Given the description of an element on the screen output the (x, y) to click on. 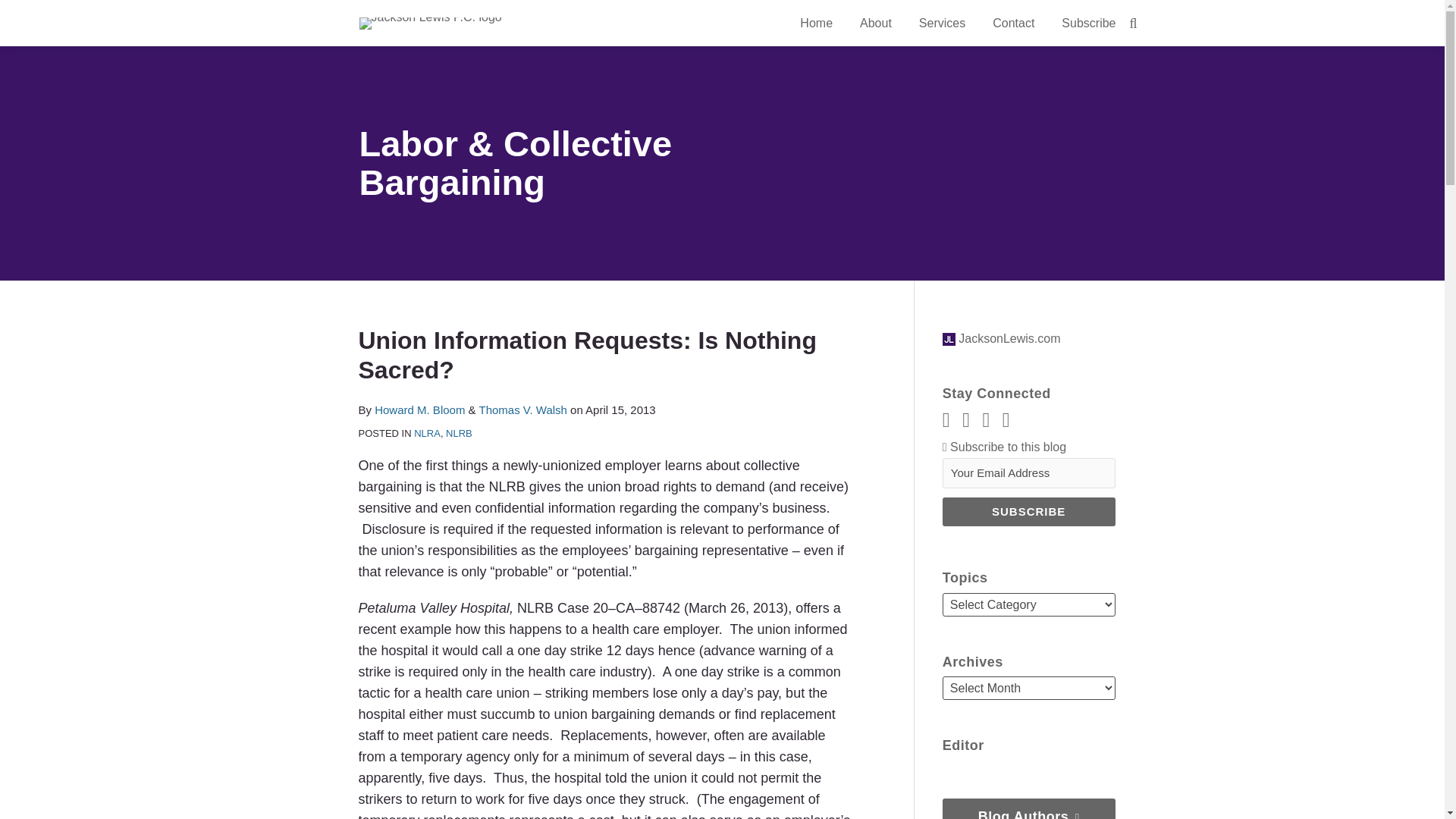
NLRB (458, 432)
Subscribe (1028, 511)
Services (941, 23)
Subscribe (1088, 23)
Subscribe (1028, 511)
Thomas V. Walsh (522, 409)
NLRA (427, 432)
Contact (1012, 23)
Howard M. Bloom (419, 409)
About (875, 23)
